Given the description of an element on the screen output the (x, y) to click on. 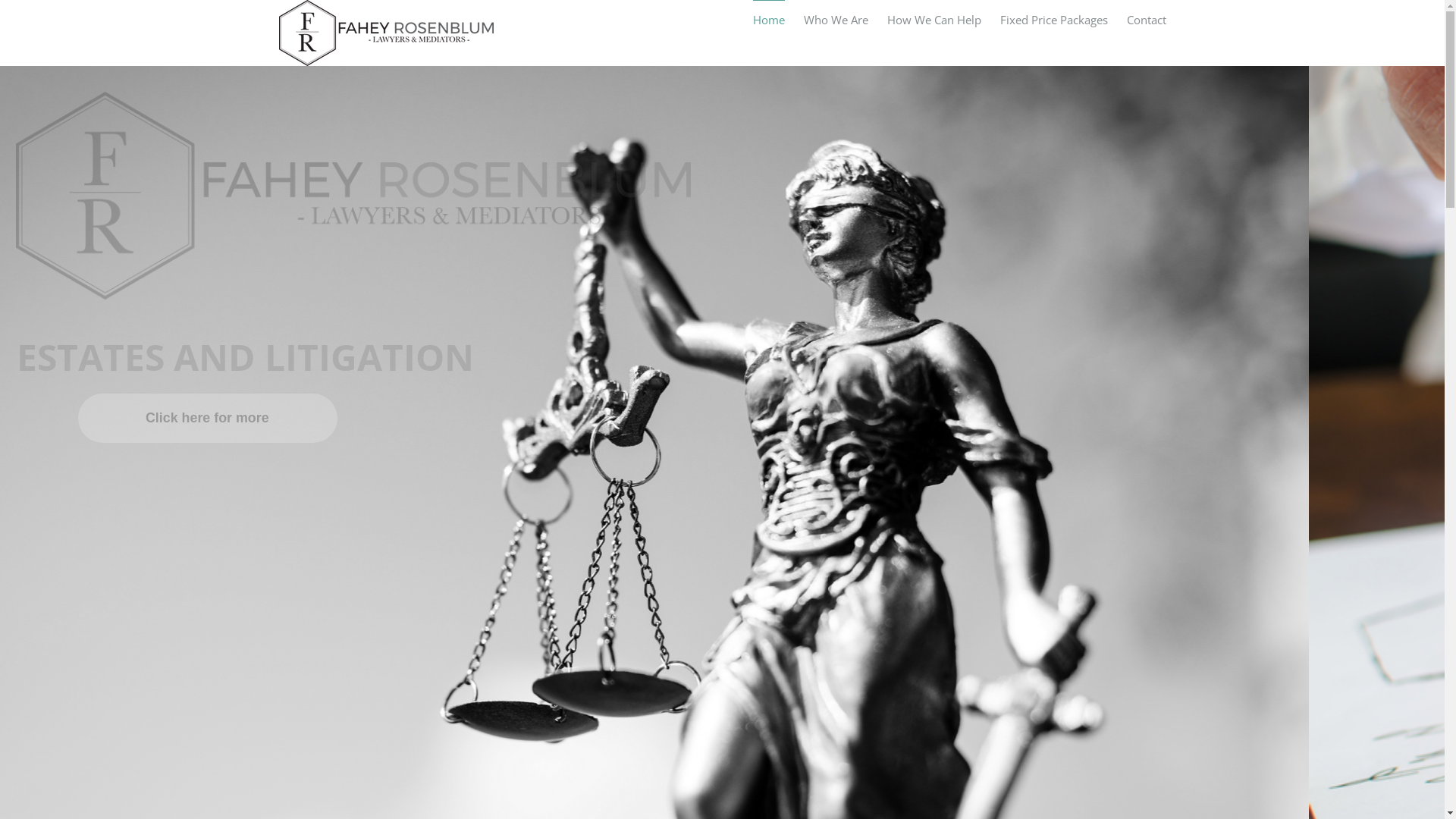
Contact Element type: text (1146, 19)
Fixed Price Packages Element type: text (1053, 19)
How We Can Help Element type: text (934, 19)
Home Element type: text (768, 19)
Who We Are Element type: text (835, 19)
